Given the description of an element on the screen output the (x, y) to click on. 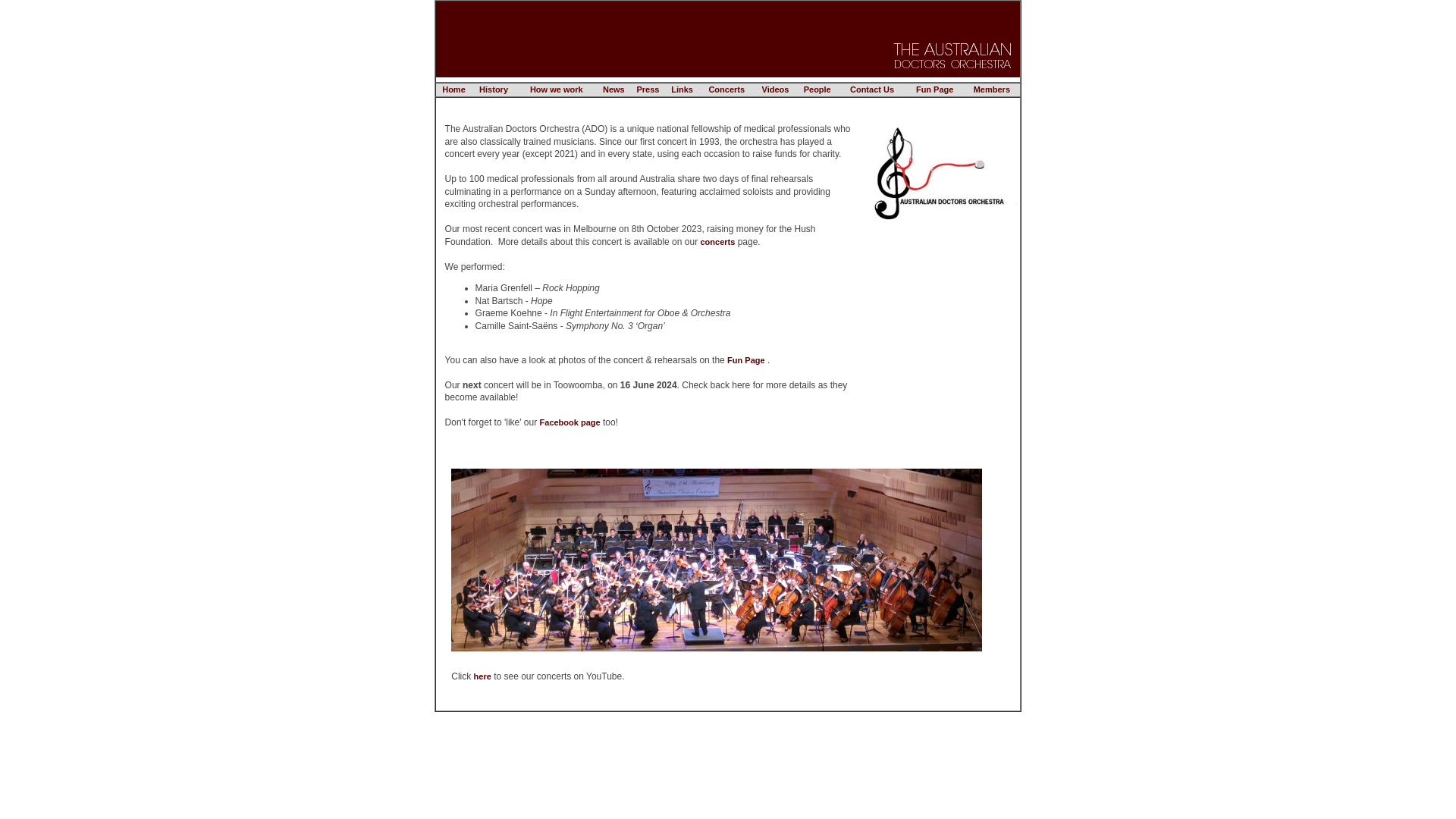
Contact Us Element type: text (872, 89)
Fun Page Element type: text (746, 359)
How we work Element type: text (556, 89)
Videos Element type: text (774, 89)
News Element type: text (613, 89)
Home Element type: text (453, 89)
concerts Element type: text (716, 240)
Members Element type: text (991, 89)
Press Element type: text (647, 89)
Facebook page Element type: text (569, 421)
Links Element type: text (682, 89)
People Element type: text (817, 89)
Concerts Element type: text (726, 89)
here Element type: text (482, 675)
History Element type: text (493, 89)
Fun Page Element type: text (934, 89)
